Given the description of an element on the screen output the (x, y) to click on. 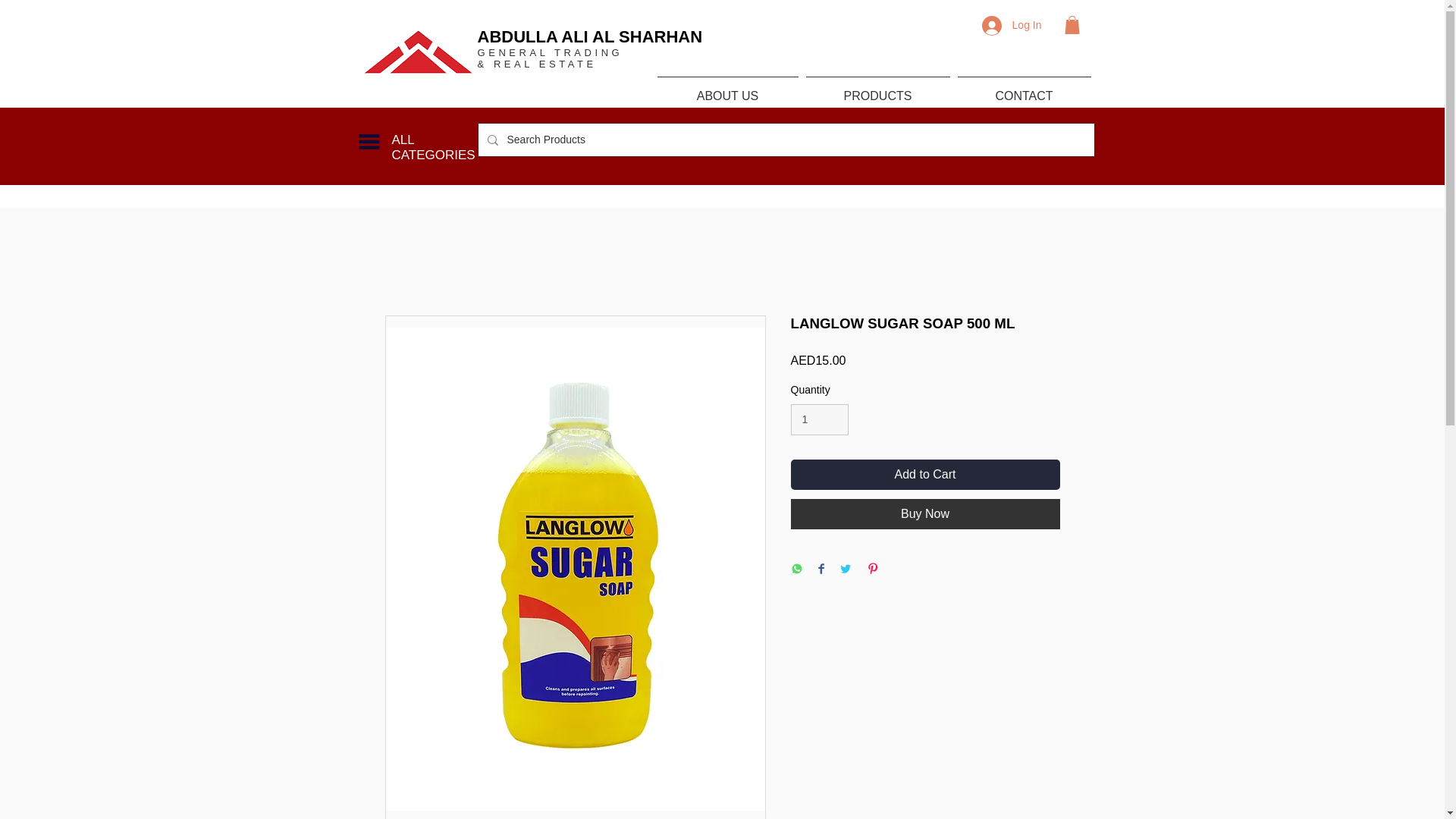
Log In (1011, 25)
ABDULLA ALI AL SHARHAN (590, 36)
Buy Now (924, 513)
CONTACT (1023, 89)
PRODUCTS (877, 89)
Add to Cart (924, 474)
1 (818, 419)
ABOUT US (727, 89)
